Given the description of an element on the screen output the (x, y) to click on. 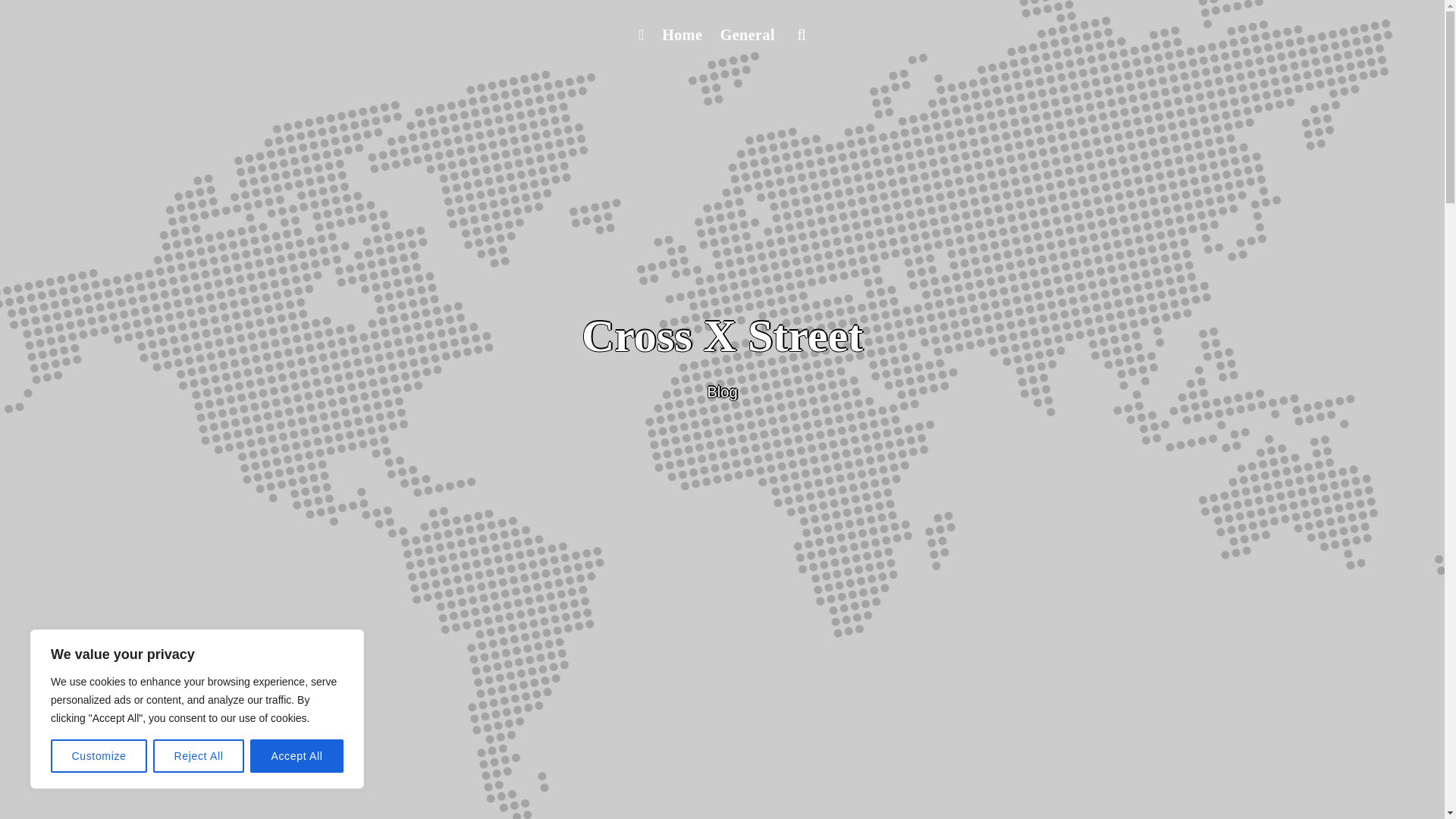
Home (681, 35)
Cross X Street (721, 336)
Accept All (296, 756)
Customize (98, 756)
General (747, 35)
Reject All (198, 756)
